Given the description of an element on the screen output the (x, y) to click on. 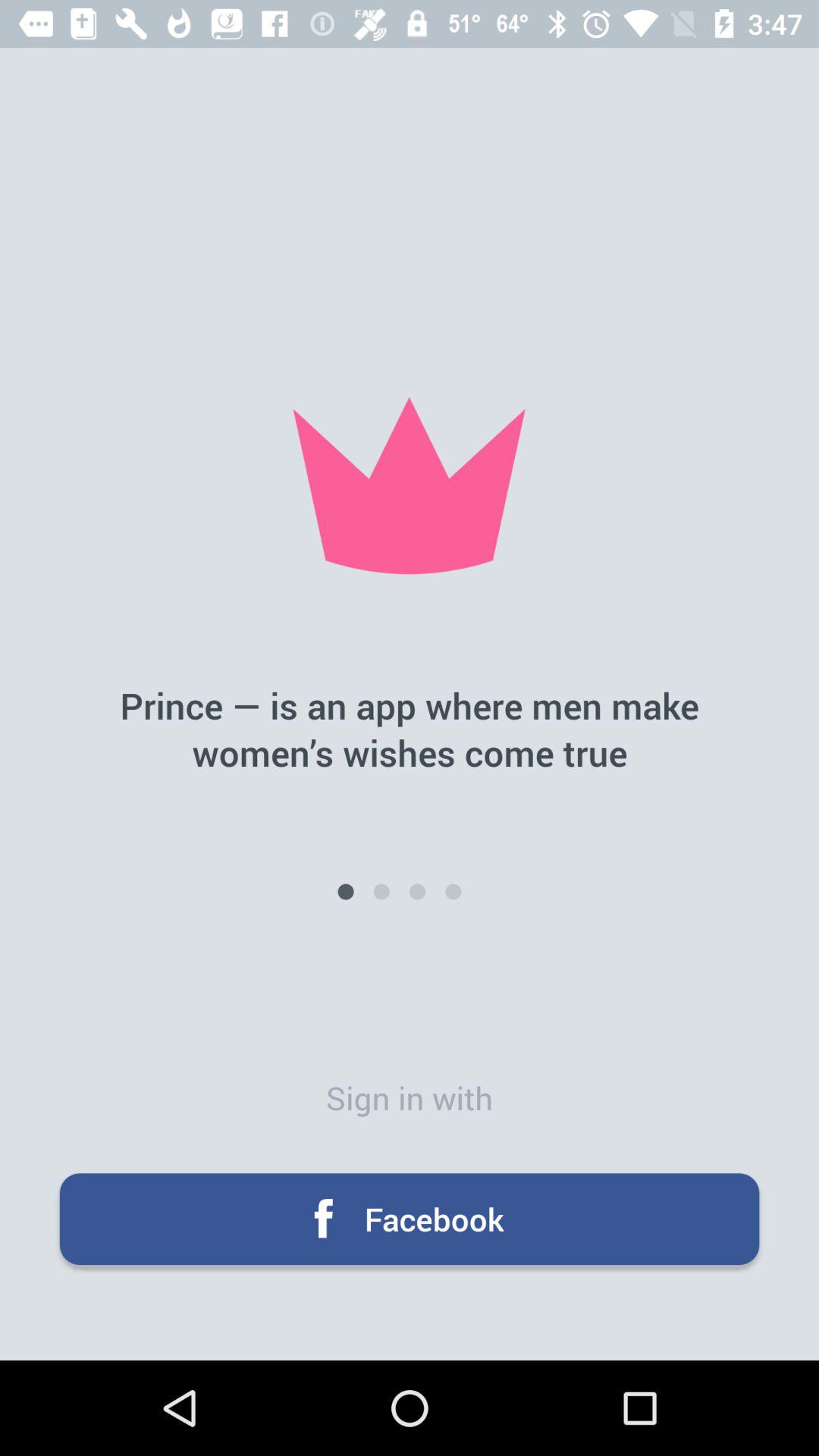
click icon below prince is an (417, 891)
